Given the description of an element on the screen output the (x, y) to click on. 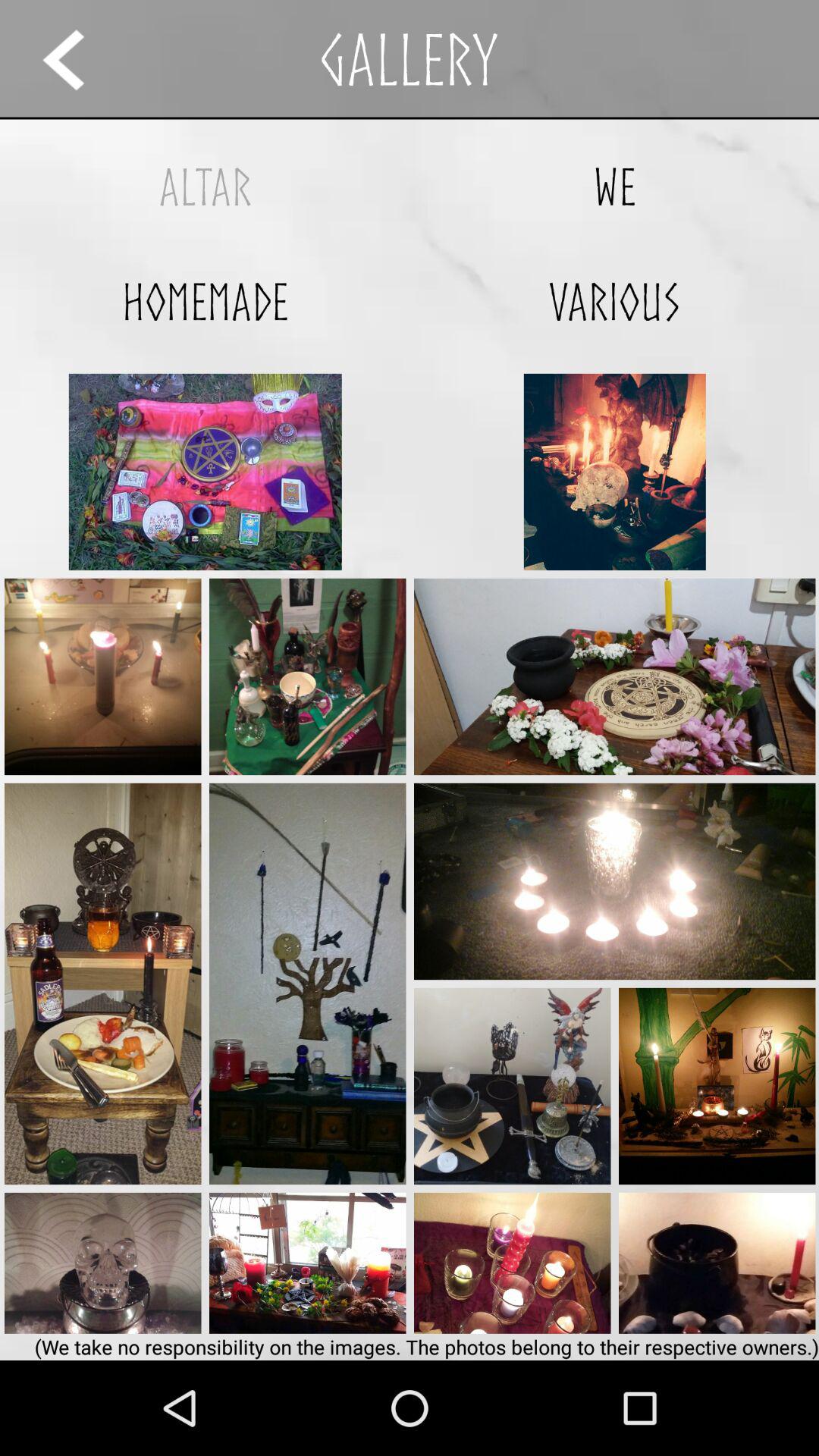
launch the app next to we icon (204, 186)
